Given the description of an element on the screen output the (x, y) to click on. 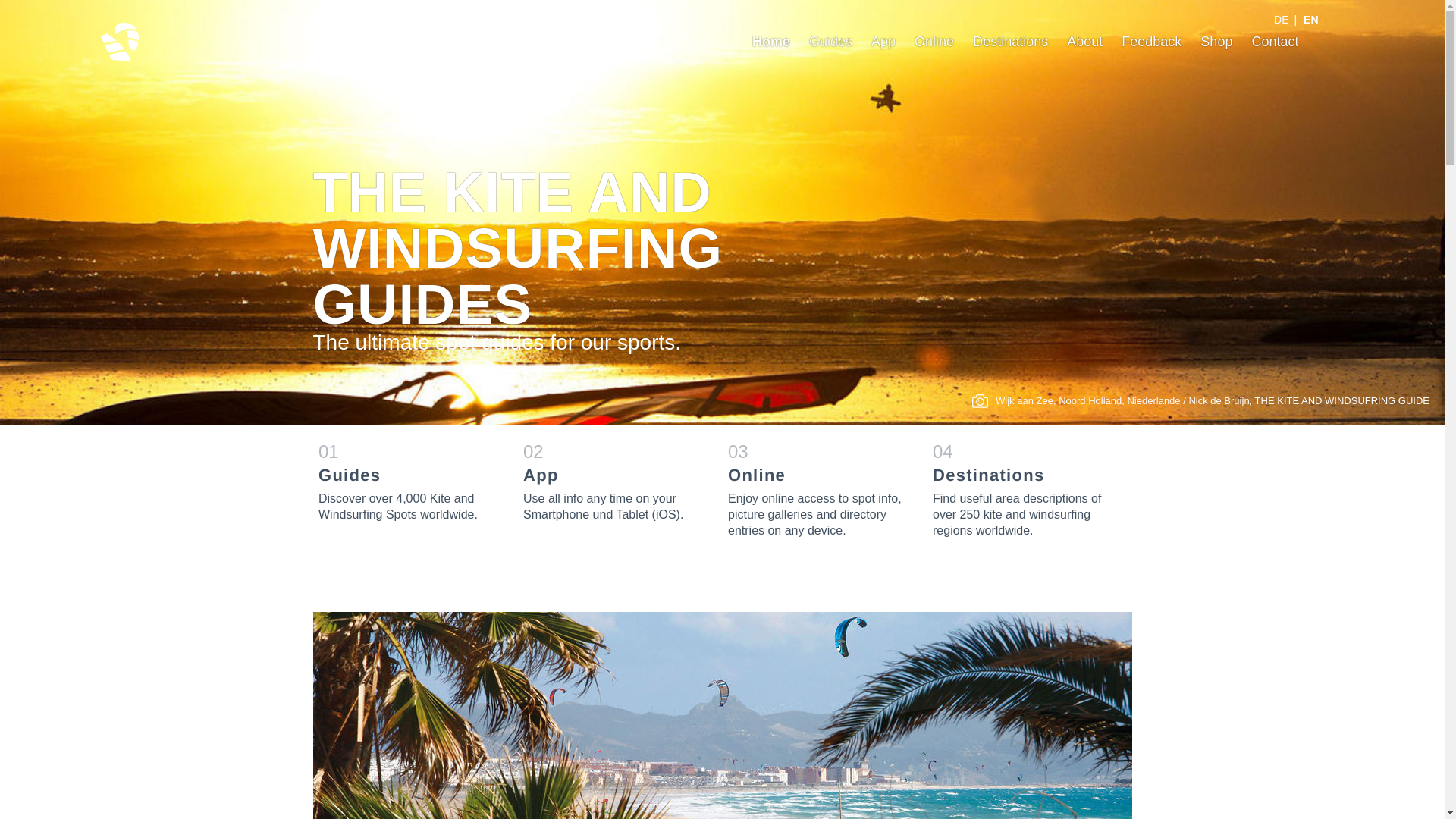
Home (1281, 19)
Feedback (1150, 41)
Shop (1215, 41)
Guides (830, 41)
Feedback (1150, 41)
Online (818, 488)
Contact (1274, 41)
Destinations (1010, 41)
App (882, 41)
Destinations (1010, 41)
App (612, 481)
